Given the description of an element on the screen output the (x, y) to click on. 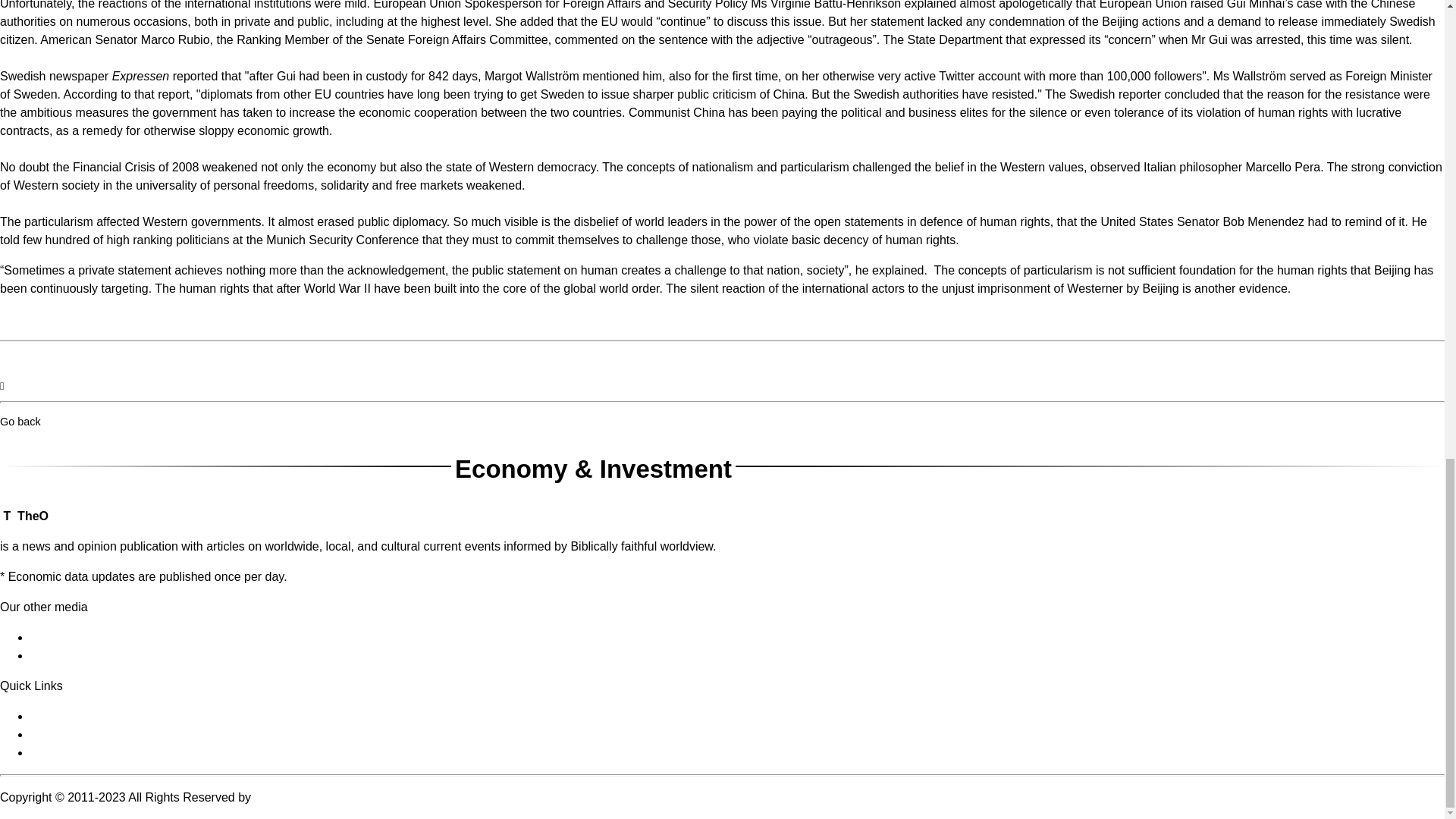
TheO.Health (64, 655)
Privacy Policy (68, 752)
Go back (20, 421)
Go back (20, 421)
About The Owner (77, 716)
TheO.News (62, 636)
